Given the description of an element on the screen output the (x, y) to click on. 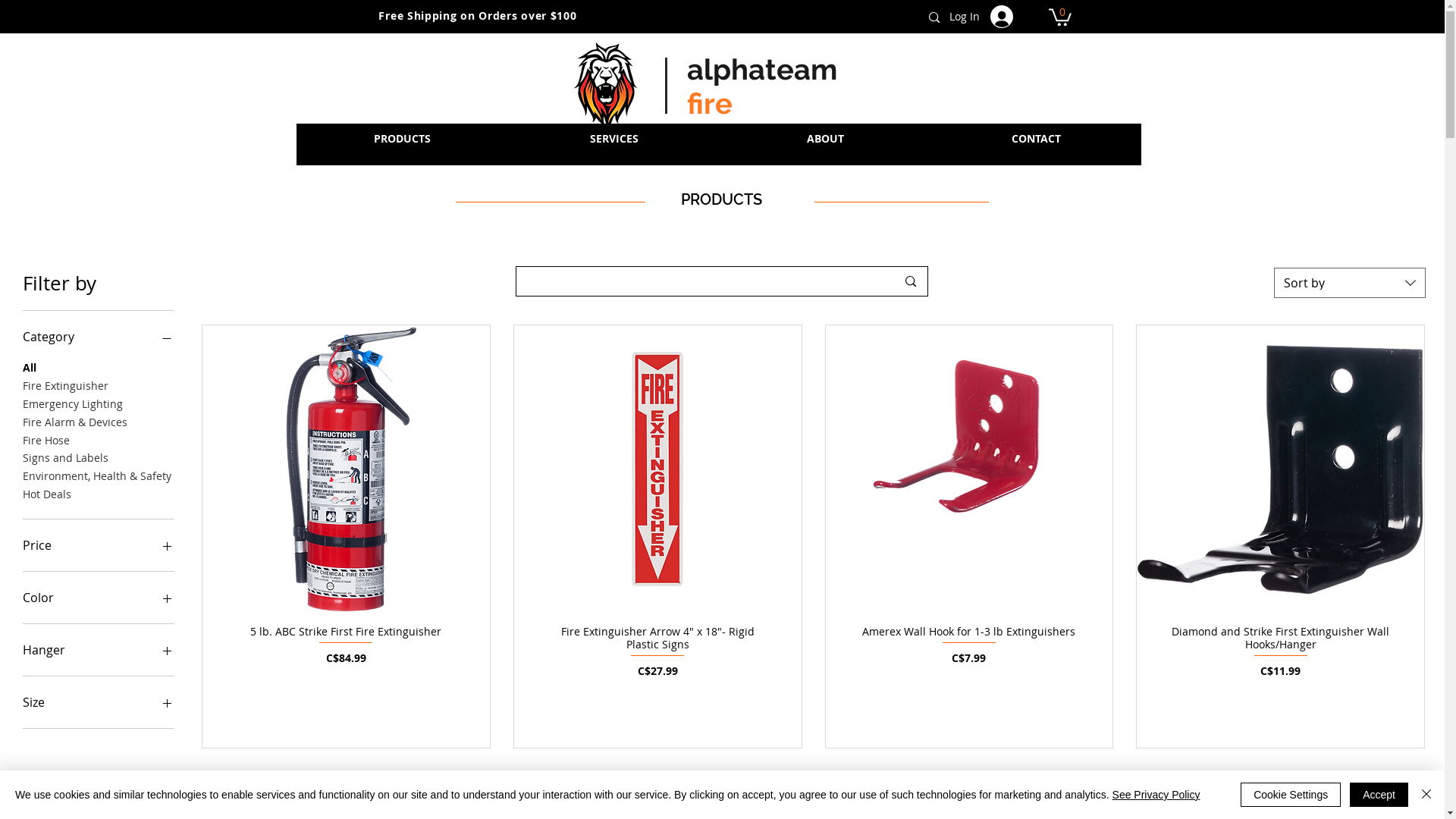
0 Element type: text (1059, 15)
Size Element type: text (98, 701)
Log In Element type: text (989, 15)
ABOUT Element type: text (823, 138)
Cookie Settings Element type: text (1290, 794)
PRODUCTS Element type: text (401, 149)
fire Element type: text (709, 103)
ABOUT Element type: text (823, 149)
SERVICES Element type: text (613, 138)
Amerex Wall Hook for 1-3 lb Extinguishers
Price
C$7.99 Element type: text (968, 651)
Color Element type: text (98, 597)
Hanger Element type: text (98, 649)
Price Element type: text (98, 544)
alphateam Element type: text (762, 69)
Category Element type: text (98, 336)
Accept Element type: text (1378, 794)
SERVICES Element type: text (613, 149)
CONTACT Element type: text (1034, 138)
Sort by Element type: text (1349, 282)
PRODUCTS Element type: text (401, 138)
CONTACT Element type: text (1034, 149)
5 lb. ABC Strike First Fire Extinguisher
Price
C$84.99 Element type: text (345, 651)
See Privacy Policy Element type: text (1156, 794)
